Given the description of an element on the screen output the (x, y) to click on. 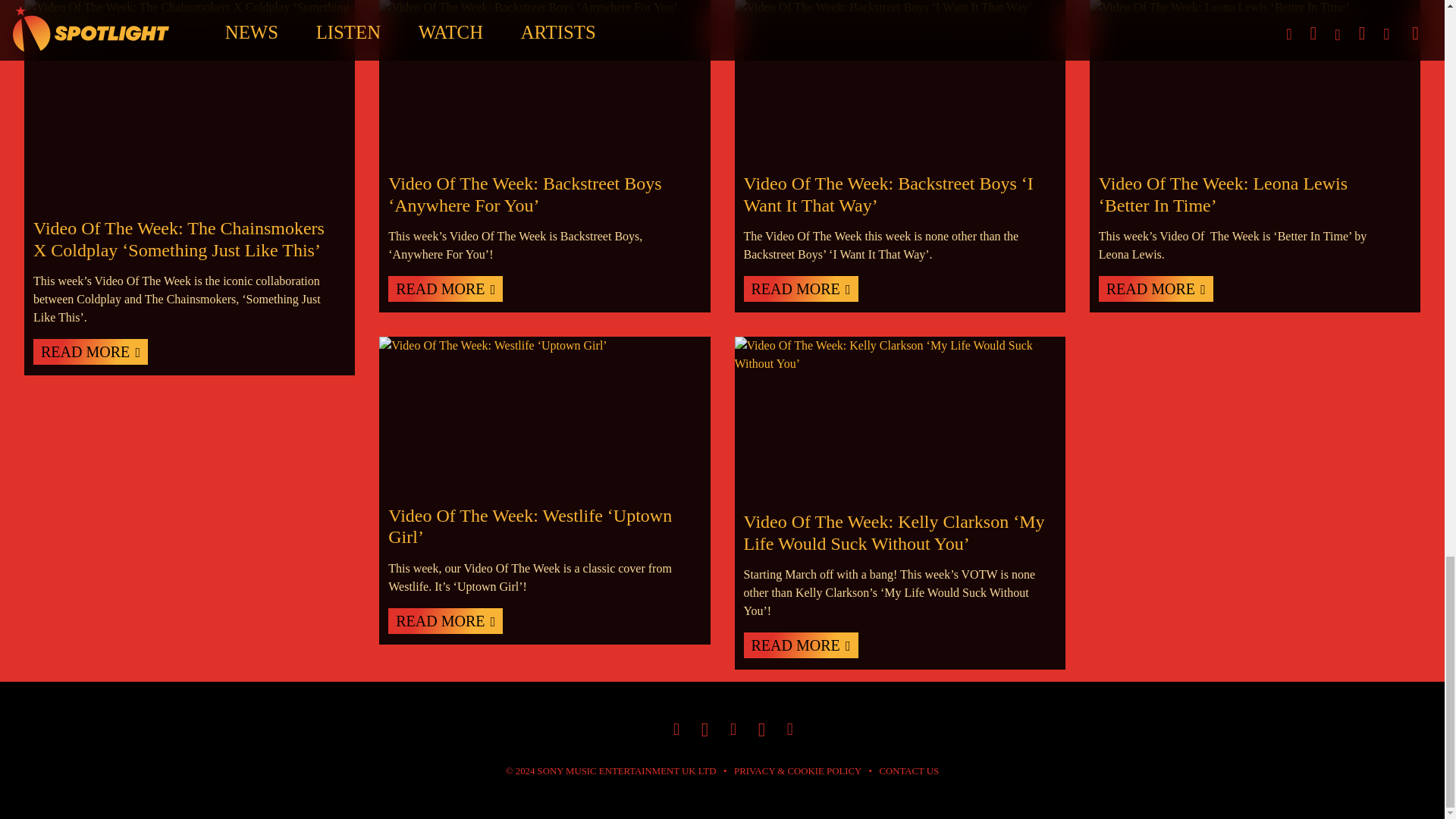
Visit the Spotlight Twitter page (761, 730)
READ MORE (1155, 289)
Visit the Spotlight Facebook page (732, 730)
READ MORE (445, 289)
READ MORE (445, 620)
Visit the Spotlight Instagram page (675, 730)
READ MORE (799, 289)
Sign-up to the Spotlight Newsletter (790, 730)
Visit the Spotlight TikTok page (704, 730)
CONTACT US (909, 770)
